Given the description of an element on the screen output the (x, y) to click on. 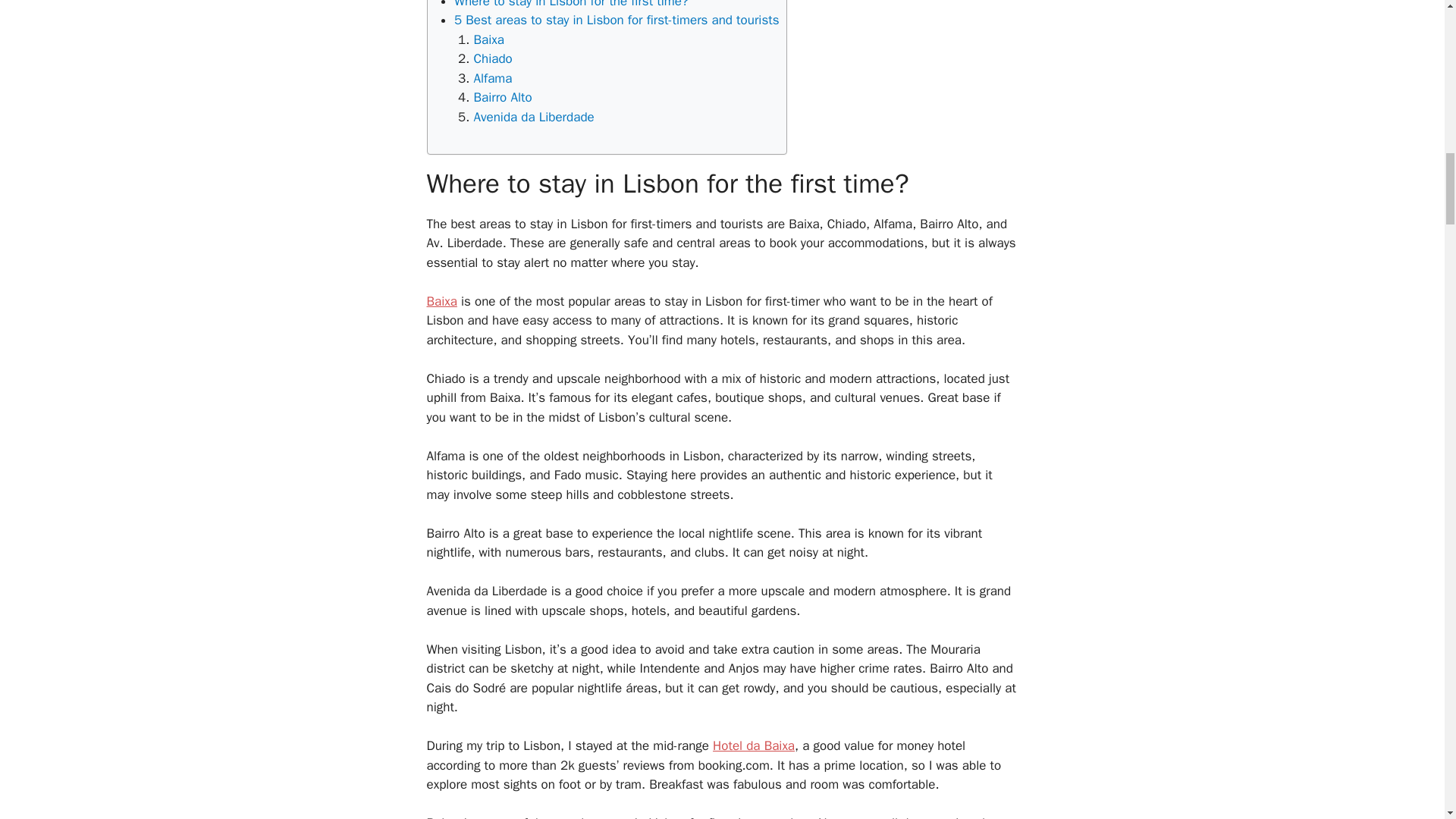
Avenida da Liberdade (533, 116)
Where to stay in Lisbon for the first time? (571, 4)
5 Best areas to stay in Lisbon for first-timers and tourists (616, 19)
Alfama (492, 78)
Hotel da Baixa (753, 745)
Chiado (492, 58)
Bairro Alto (502, 97)
Baixa (488, 39)
Baixa (441, 301)
